Given the description of an element on the screen output the (x, y) to click on. 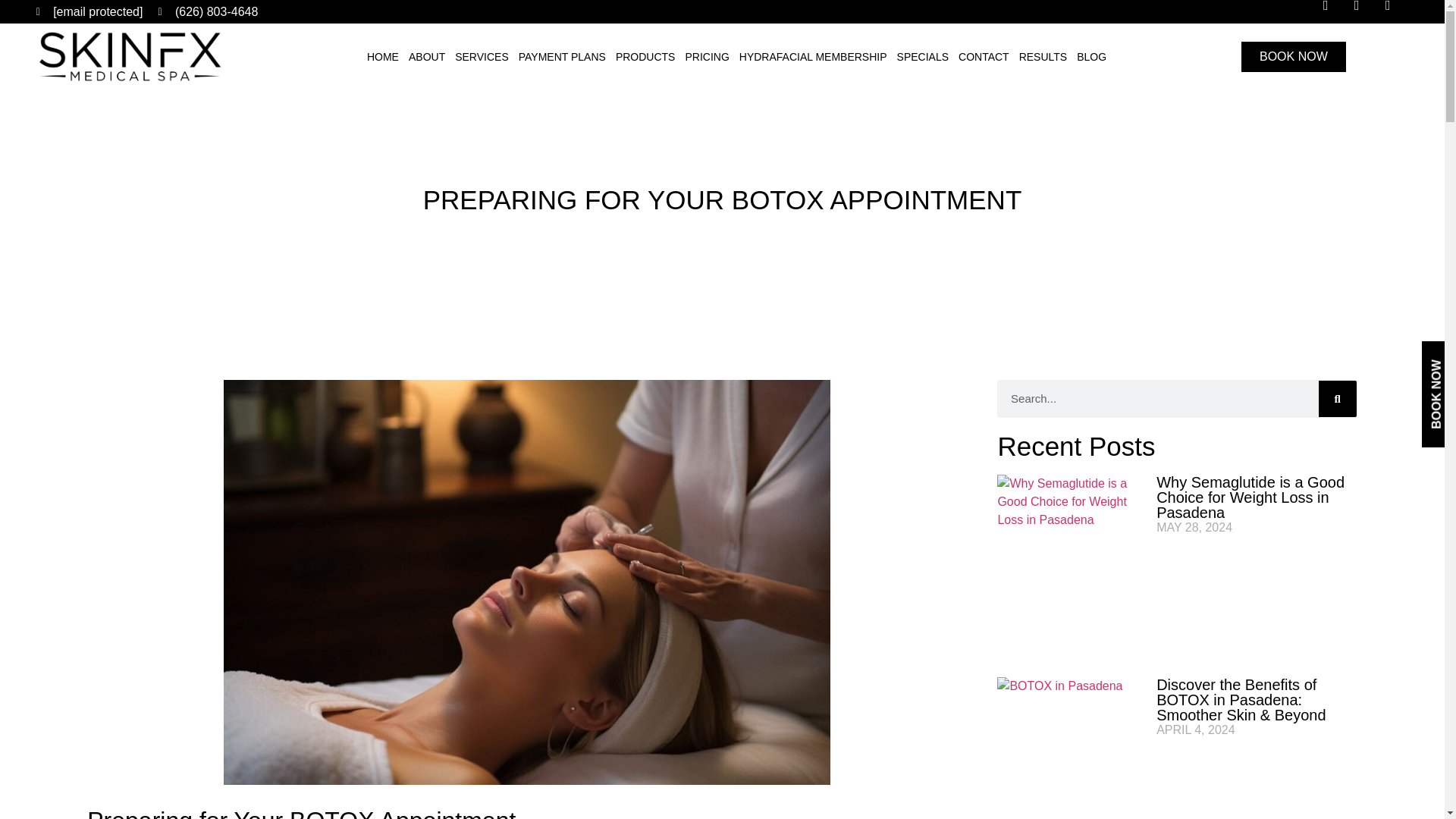
HOME (382, 56)
PAYMENT PLANS (562, 56)
HYDRAFACIAL MEMBERSHIP (813, 56)
SERVICES (481, 56)
CONTACT (984, 56)
BLOG (1091, 56)
ABOUT (426, 56)
PRICING (706, 56)
RESULTS (1042, 56)
PRODUCTS (645, 56)
